Given the description of an element on the screen output the (x, y) to click on. 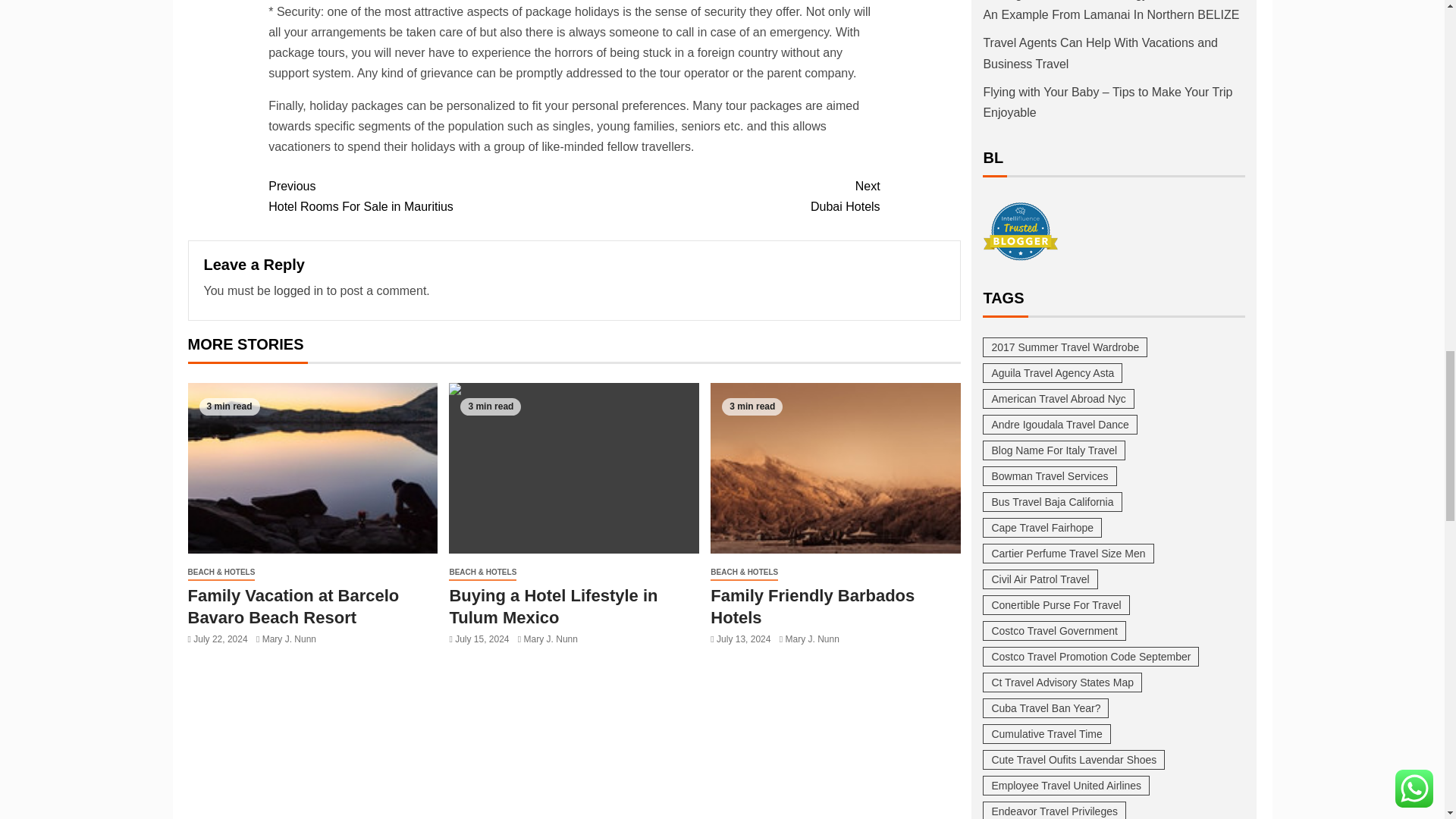
logged in (726, 196)
Buying a Hotel Lifestyle in Tulum Mexico (298, 290)
Family Vacation at Barcelo Bavaro Beach Resort (573, 468)
